Given the description of an element on the screen output the (x, y) to click on. 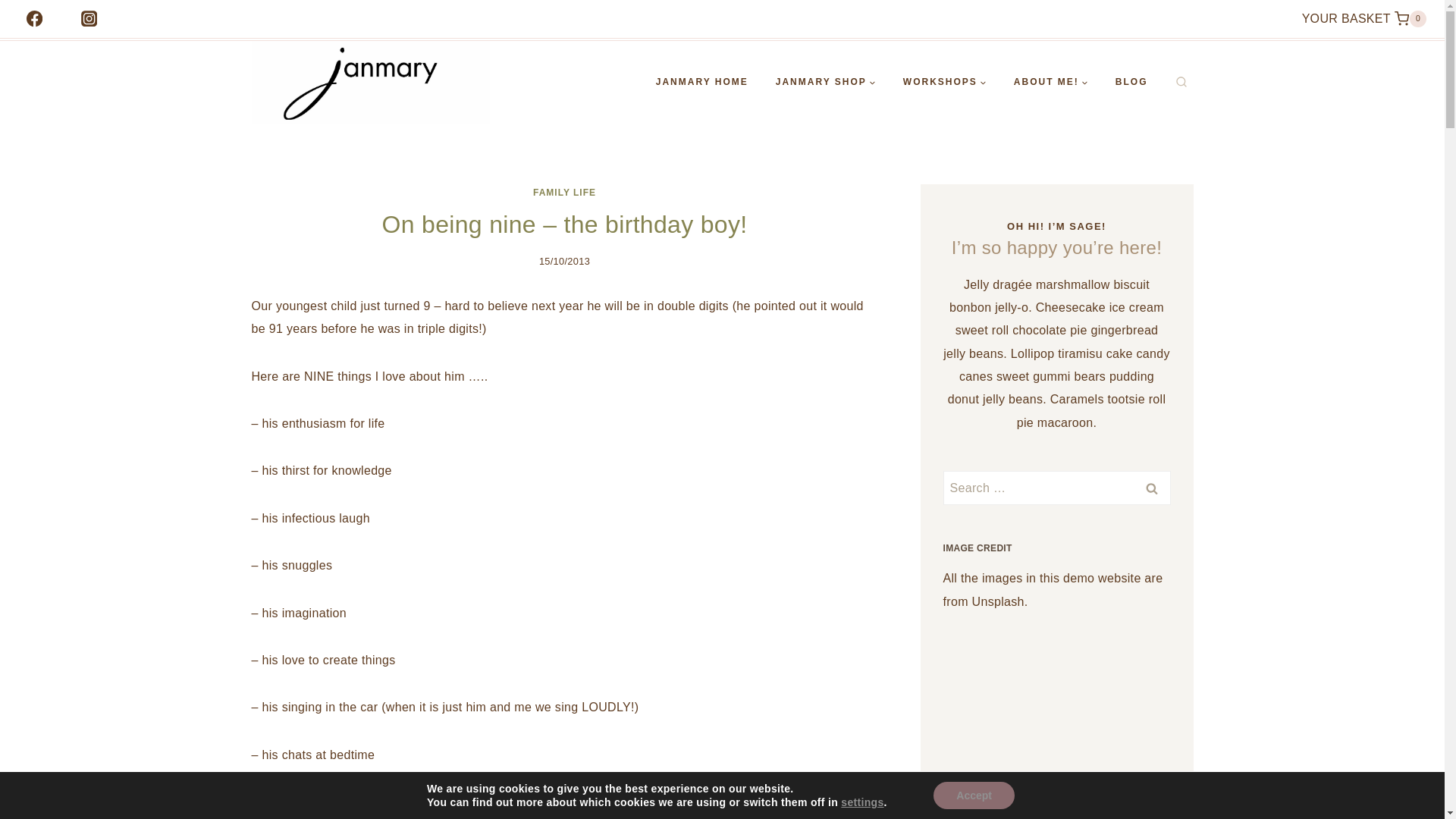
Search (1151, 487)
JANMARY HOME (1363, 18)
BLOG (701, 81)
ABOUT ME! (1131, 81)
Search (1051, 81)
JANMARY SHOP (1151, 487)
WORKSHOPS (825, 81)
FAMILY LIFE (944, 81)
Creative Community Workshops in Northern Ireland (563, 192)
